Given the description of an element on the screen output the (x, y) to click on. 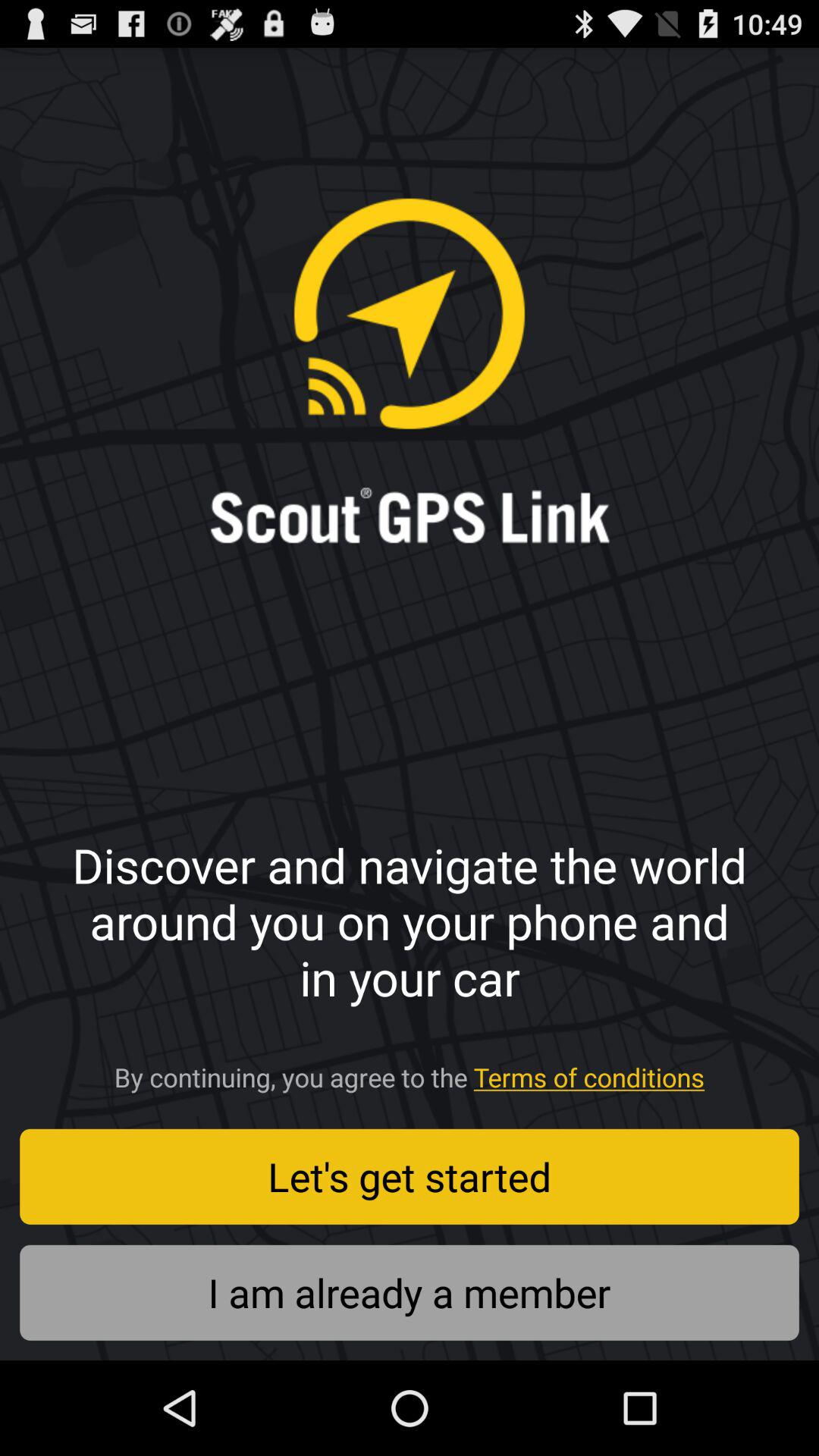
select item below let s get item (409, 1292)
